Given the description of an element on the screen output the (x, y) to click on. 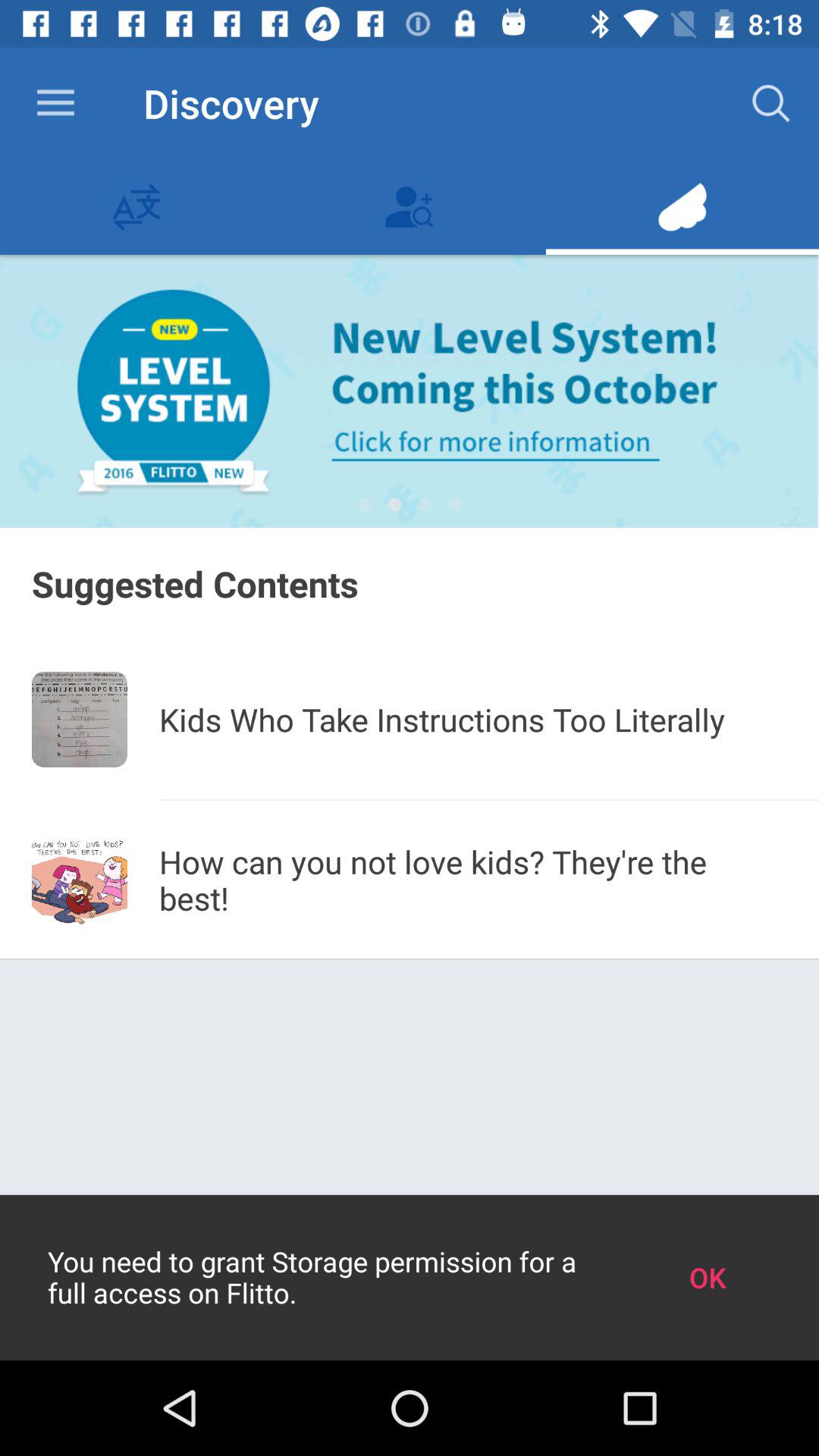
launch item below the suggested contents icon (79, 719)
